Given the description of an element on the screen output the (x, y) to click on. 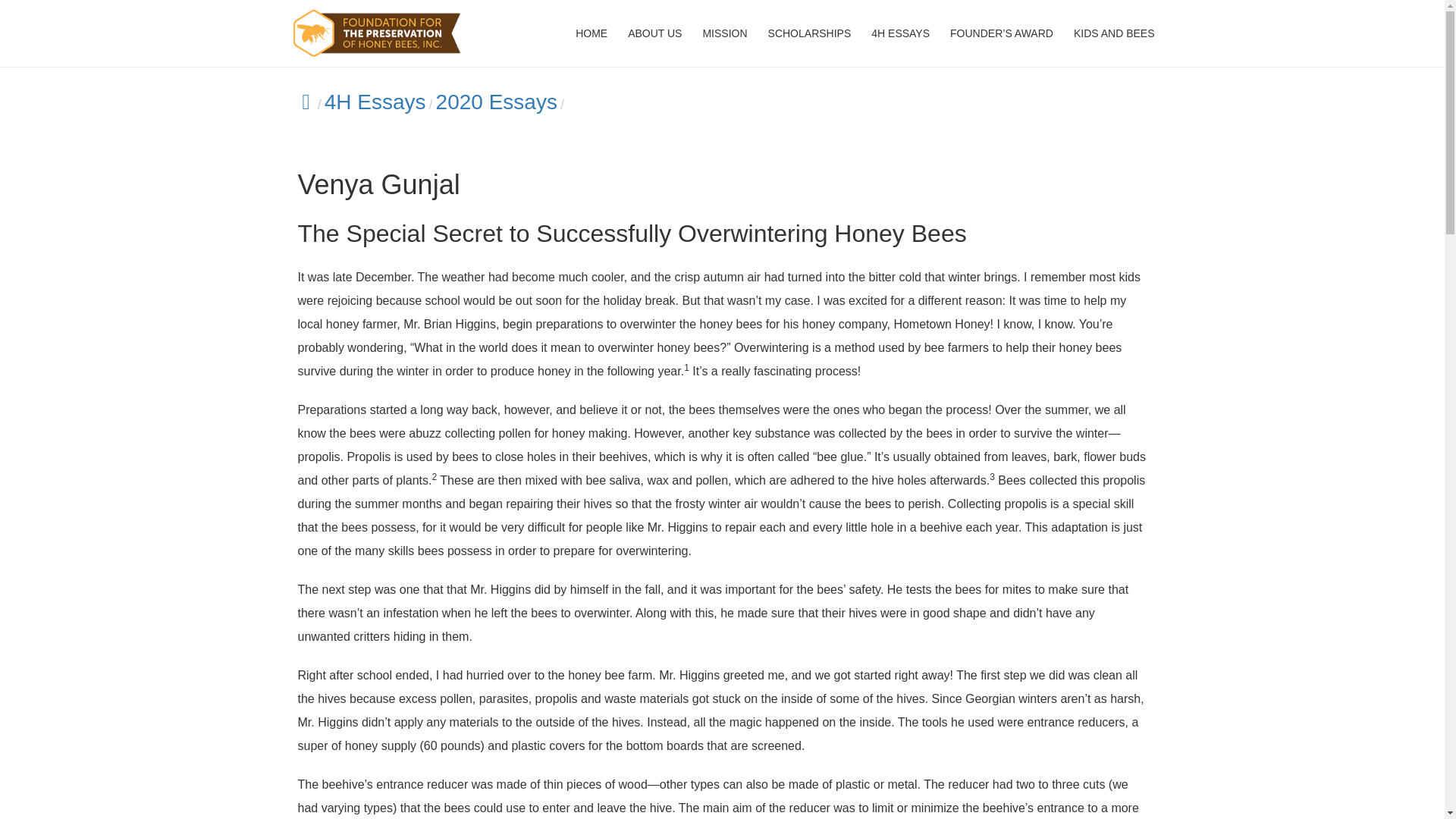
4H ESSAYS (900, 32)
MISSION (723, 32)
HOME (591, 32)
KIDS AND BEES (1114, 32)
2020 Essays (496, 101)
Venya Gunjal (630, 101)
SCHOLARSHIPS (809, 32)
Category Name (375, 101)
ABOUT US (654, 32)
